Given the description of an element on the screen output the (x, y) to click on. 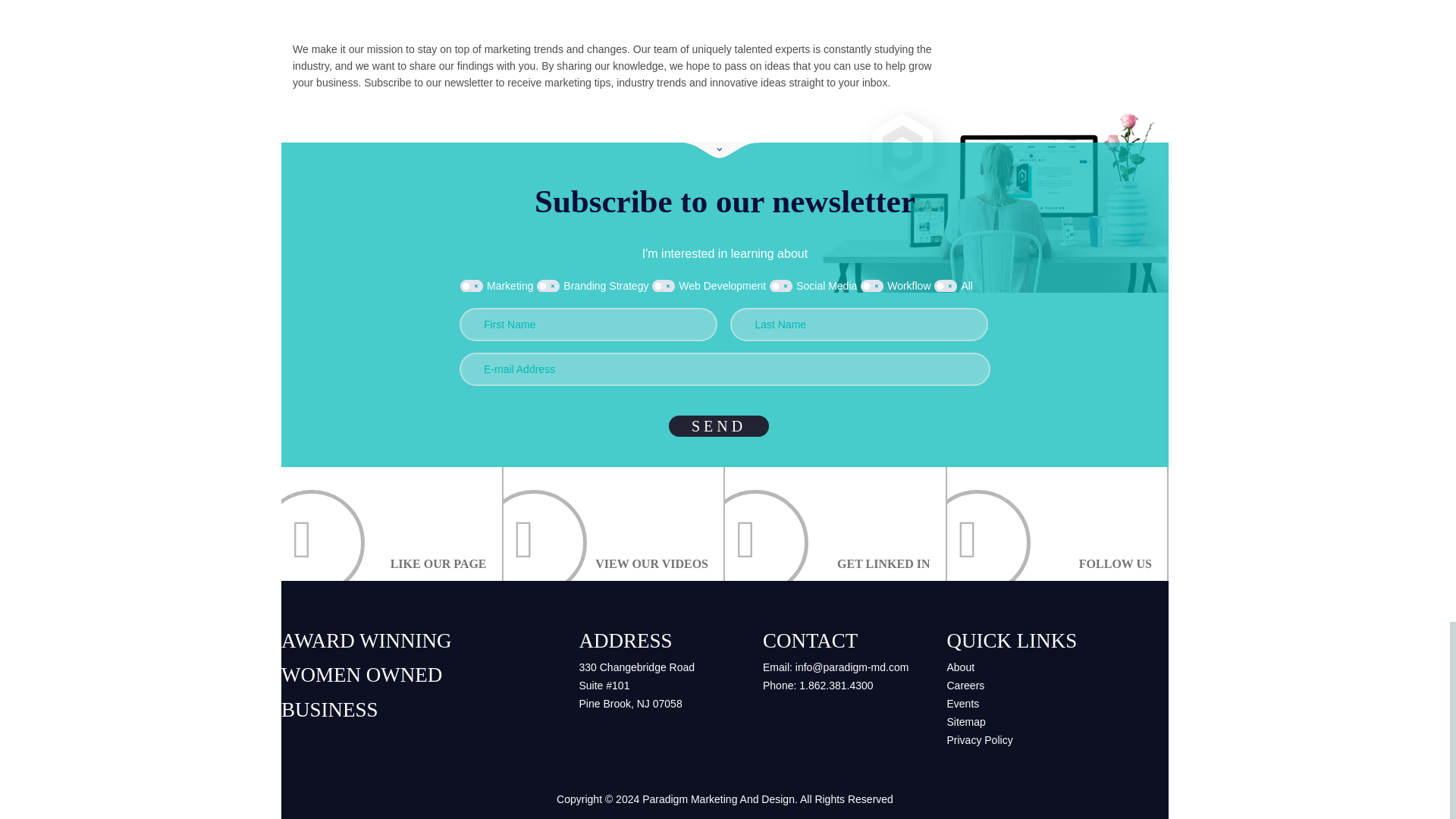
SEND (718, 425)
